Given the description of an element on the screen output the (x, y) to click on. 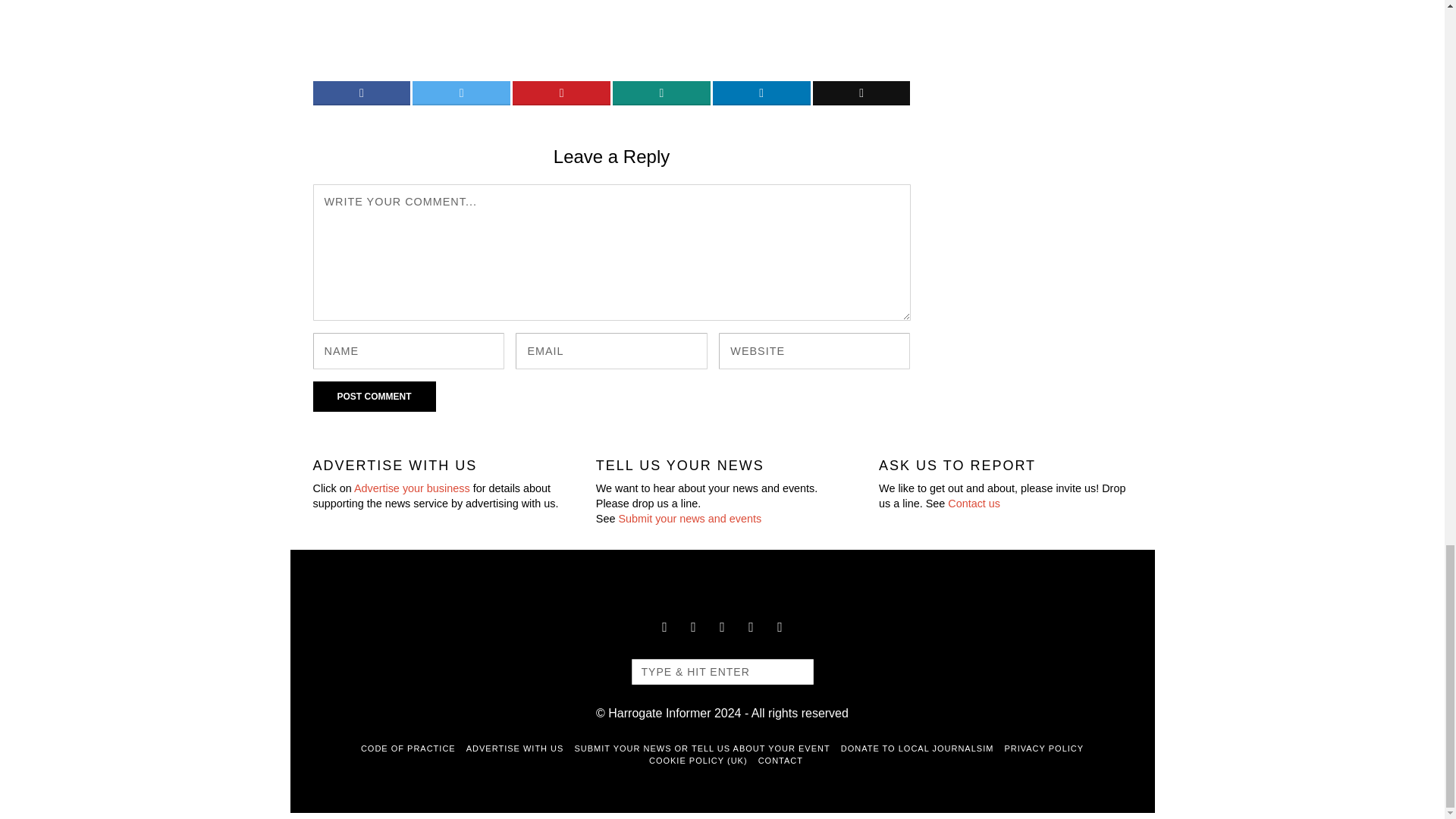
Go (794, 671)
Post Comment (374, 396)
Submit your news and events (689, 518)
Post Comment (374, 396)
Contact us (973, 503)
Advertise your business (411, 488)
